Given the description of an element on the screen output the (x, y) to click on. 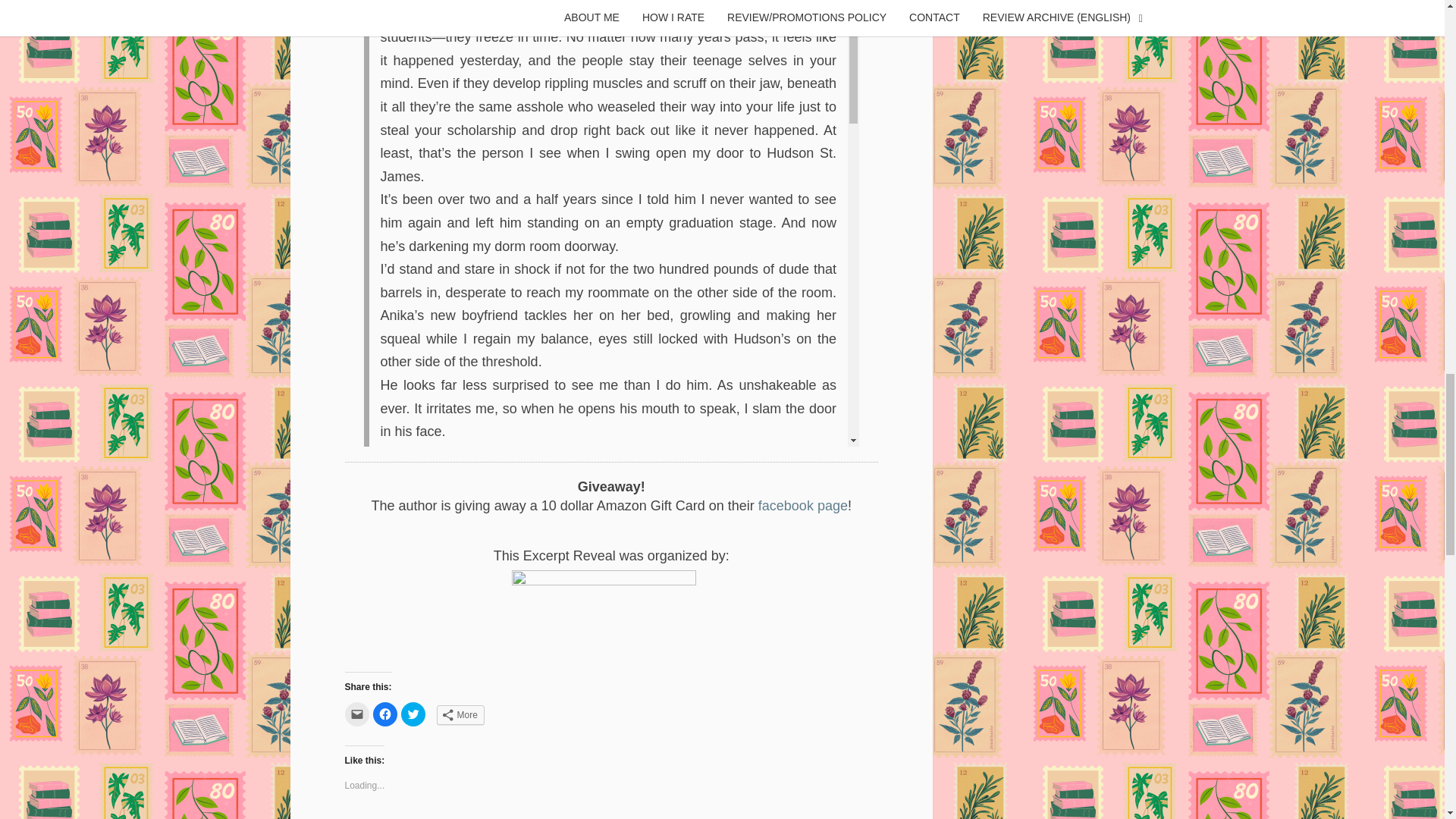
Click to share on Twitter (412, 713)
Click to email a link to a friend (355, 713)
Click to share on Facebook (384, 713)
